Given the description of an element on the screen output the (x, y) to click on. 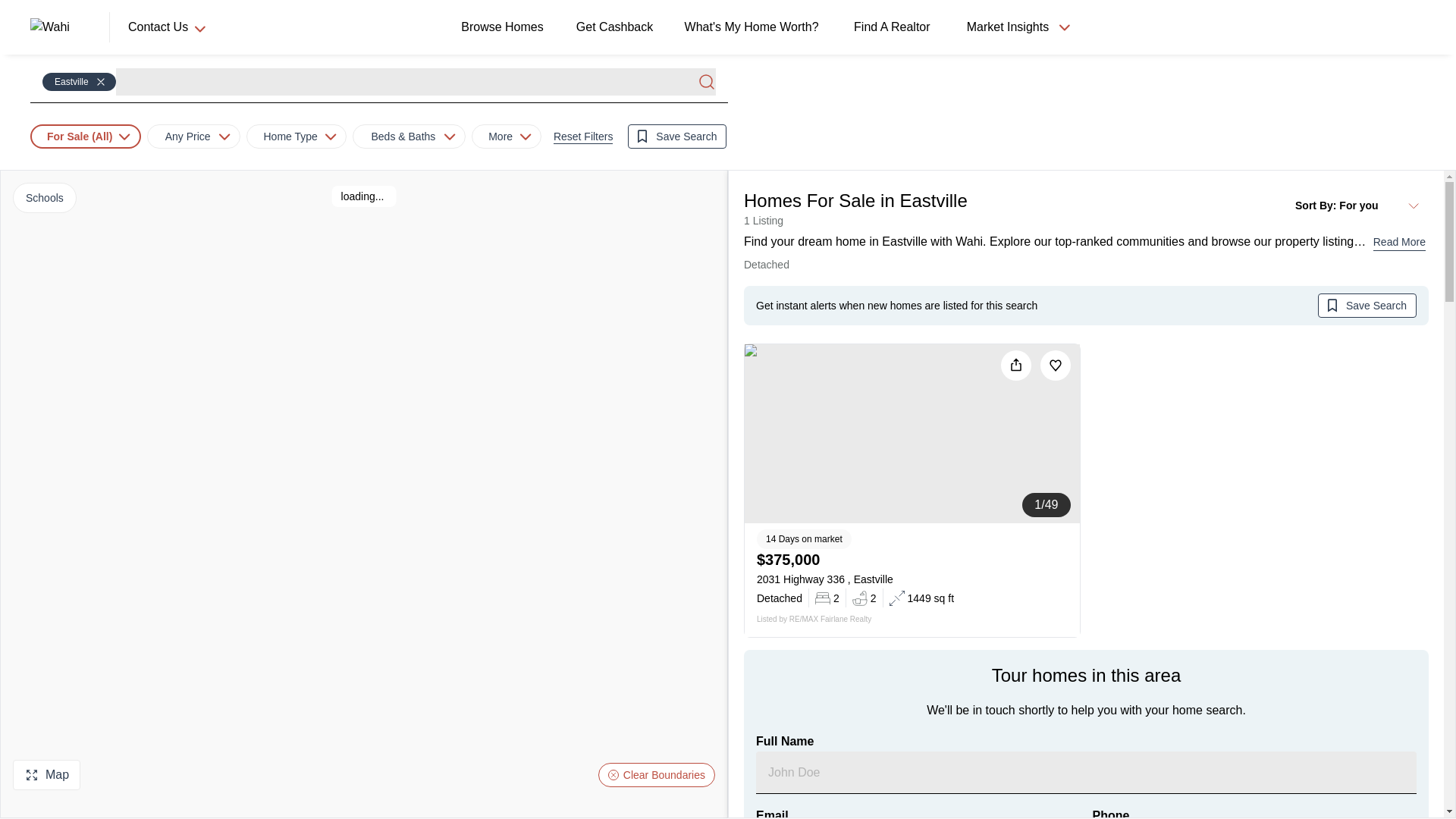
Browse Homes (504, 26)
Home Type (296, 136)
More (499, 136)
What's My Home Worth? (756, 27)
Find A Realtor (894, 27)
Get Cashback (617, 27)
Market Insights (1006, 26)
Get Cashback (617, 26)
What's My Home Worth? (755, 26)
Any Price (187, 136)
Any Price (193, 136)
Find A Realtor (894, 26)
Browse Homes (504, 27)
Home Type (290, 136)
Market Insights (1016, 27)
